Given the description of an element on the screen output the (x, y) to click on. 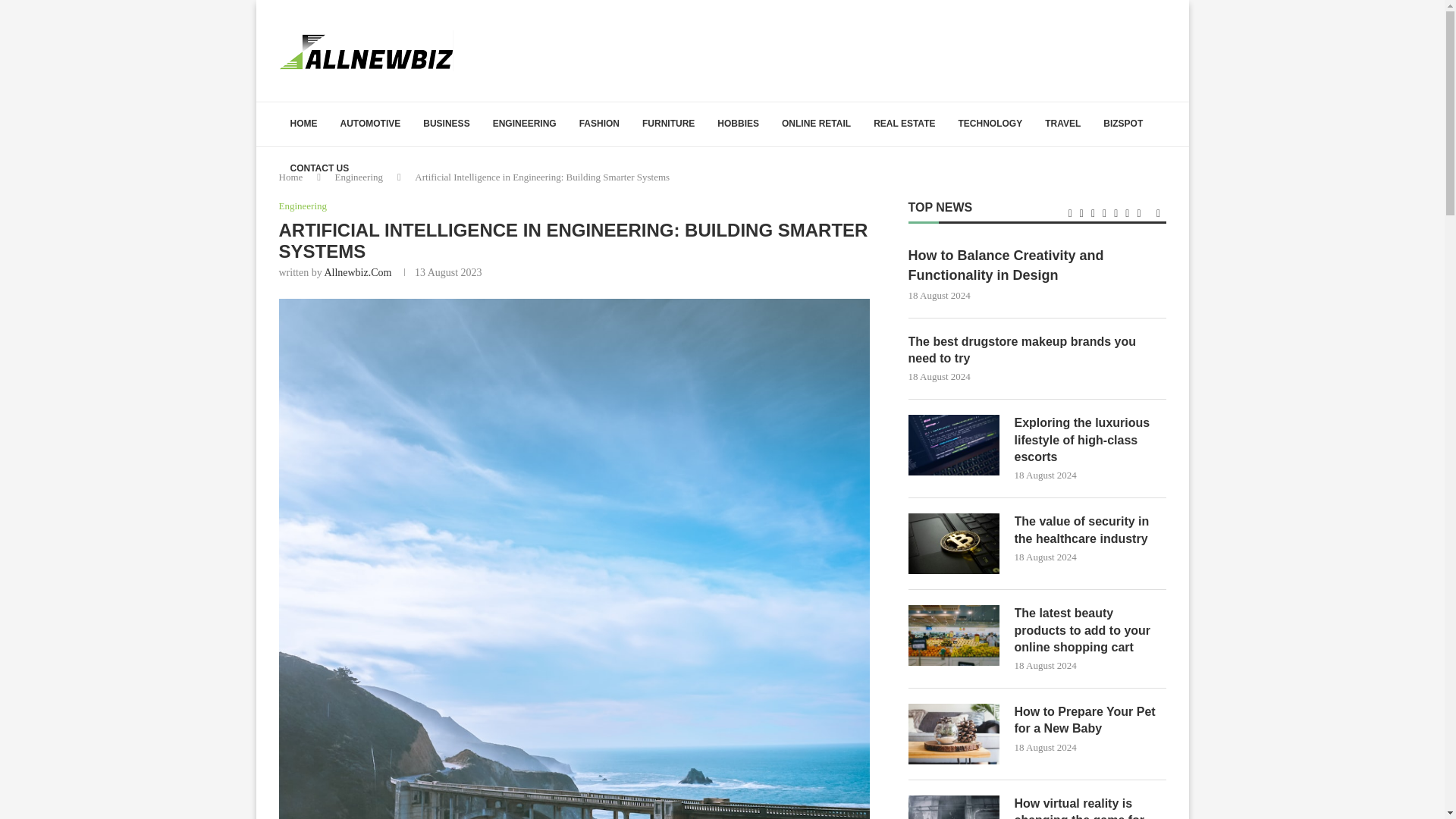
How to Balance Creativity and Functionality in Design (1037, 265)
Exploring the luxurious lifestyle of high-class escorts (953, 444)
HOME (304, 124)
Allnewbiz.Com (357, 272)
Engineering (359, 176)
TRAVEL (1062, 124)
Home (290, 176)
The best drugstore makeup brands you need to try (1037, 350)
HOBBIES (738, 124)
